Given the description of an element on the screen output the (x, y) to click on. 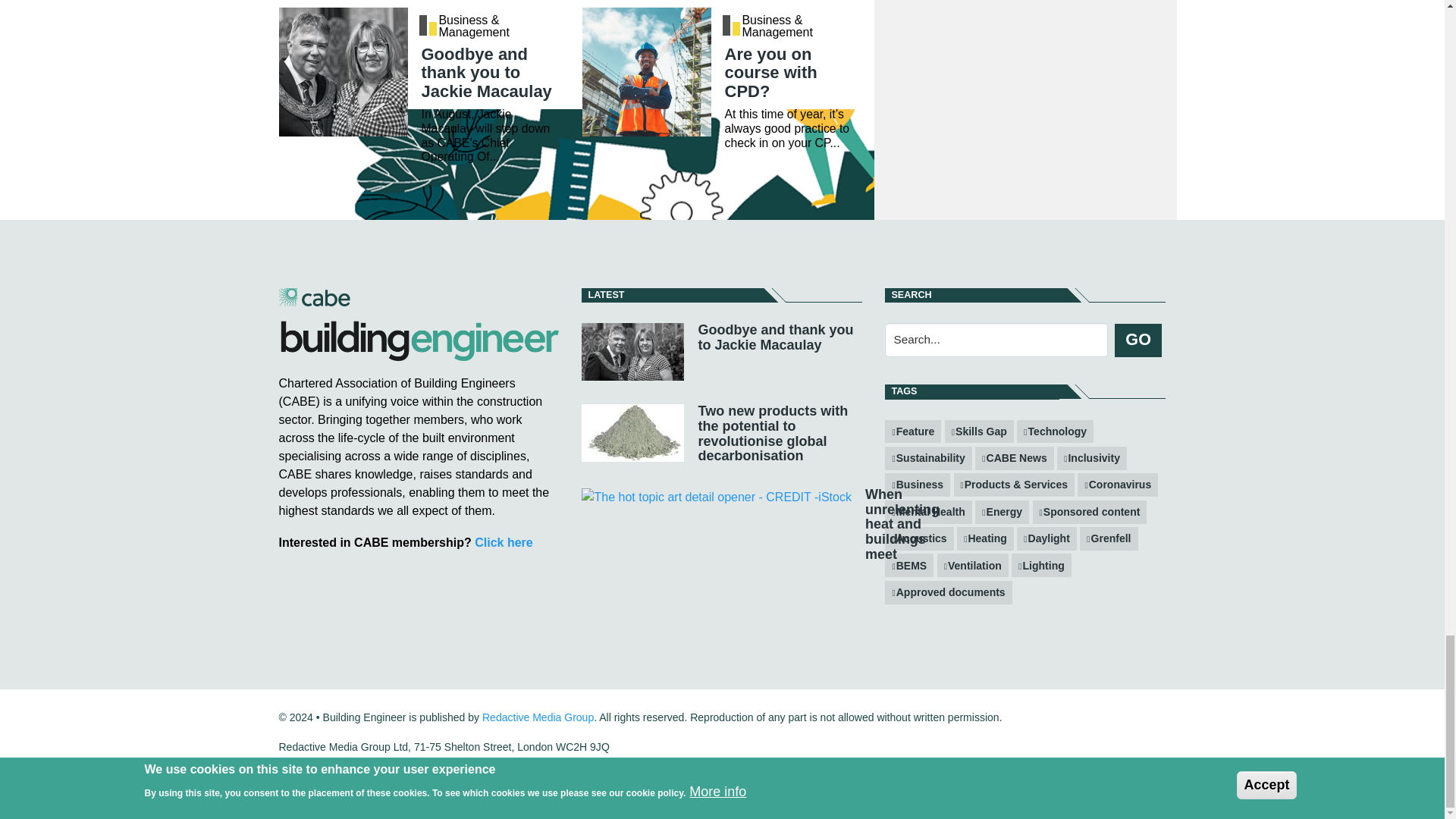
Go (1138, 339)
Enter the terms you wish to search for. (995, 339)
